Given the description of an element on the screen output the (x, y) to click on. 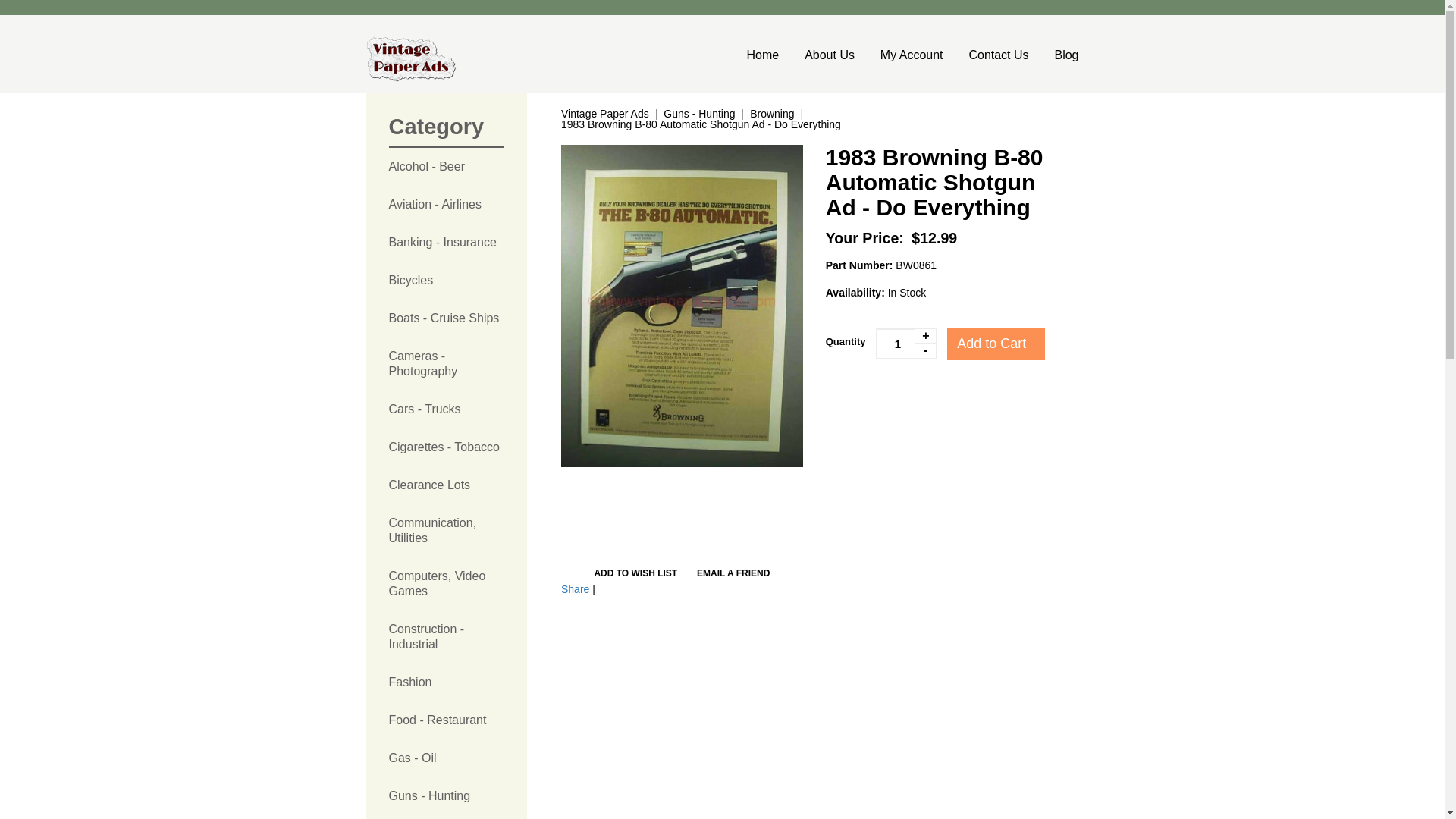
Clearance Lots (445, 485)
Cigarettes - Tobacco (445, 447)
My Account (912, 54)
Cameras - Photography (445, 363)
Home (768, 54)
Contact Us (997, 54)
About Us (829, 54)
Cars - Trucks (445, 409)
Blog (1060, 54)
Communication, Utilities (445, 530)
